Given the description of an element on the screen output the (x, y) to click on. 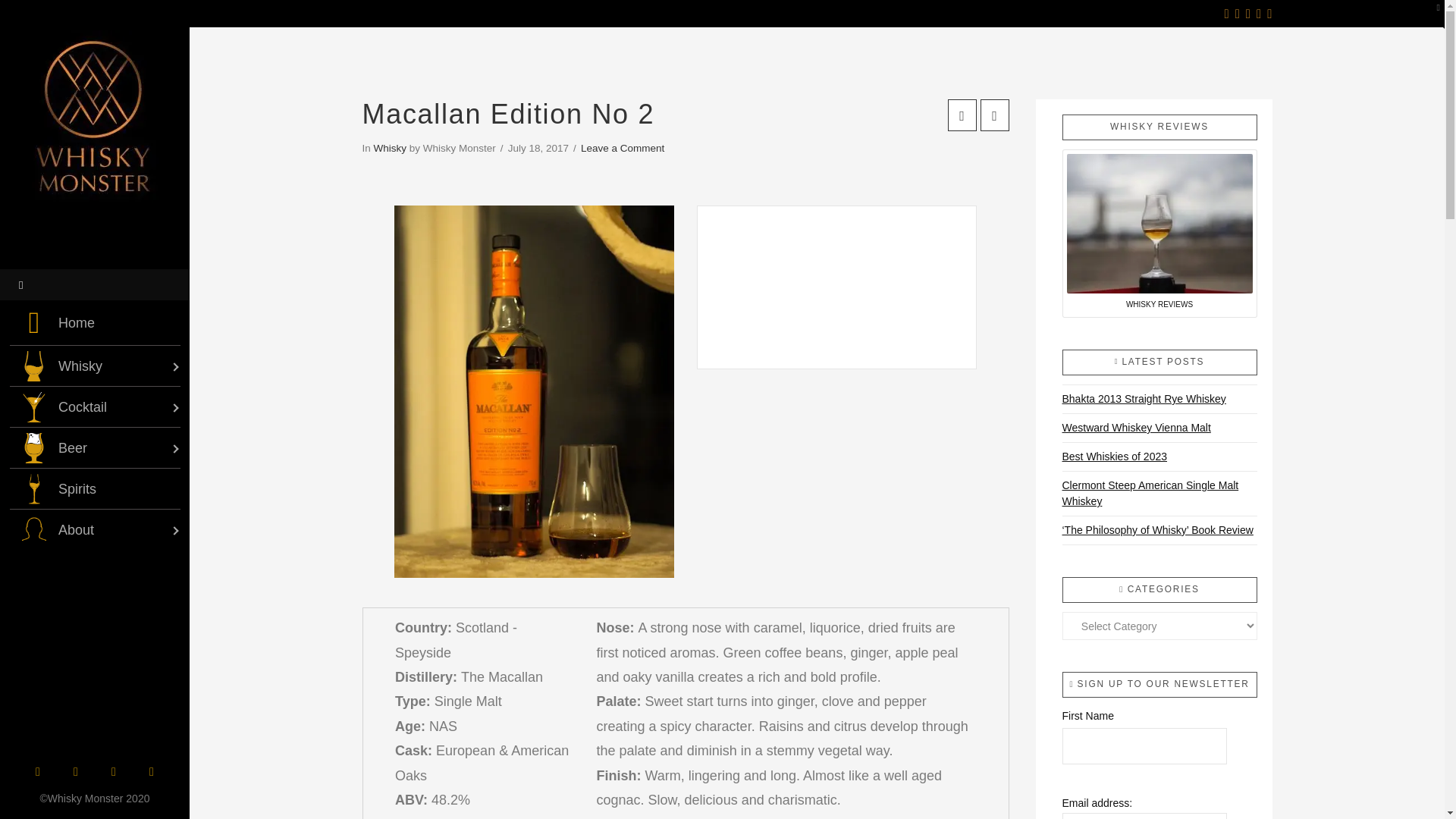
Beer (94, 447)
Home (94, 322)
About (94, 529)
Whisky (94, 365)
Search (48, 20)
Spirits (94, 488)
Cocktail (94, 406)
